Given the description of an element on the screen output the (x, y) to click on. 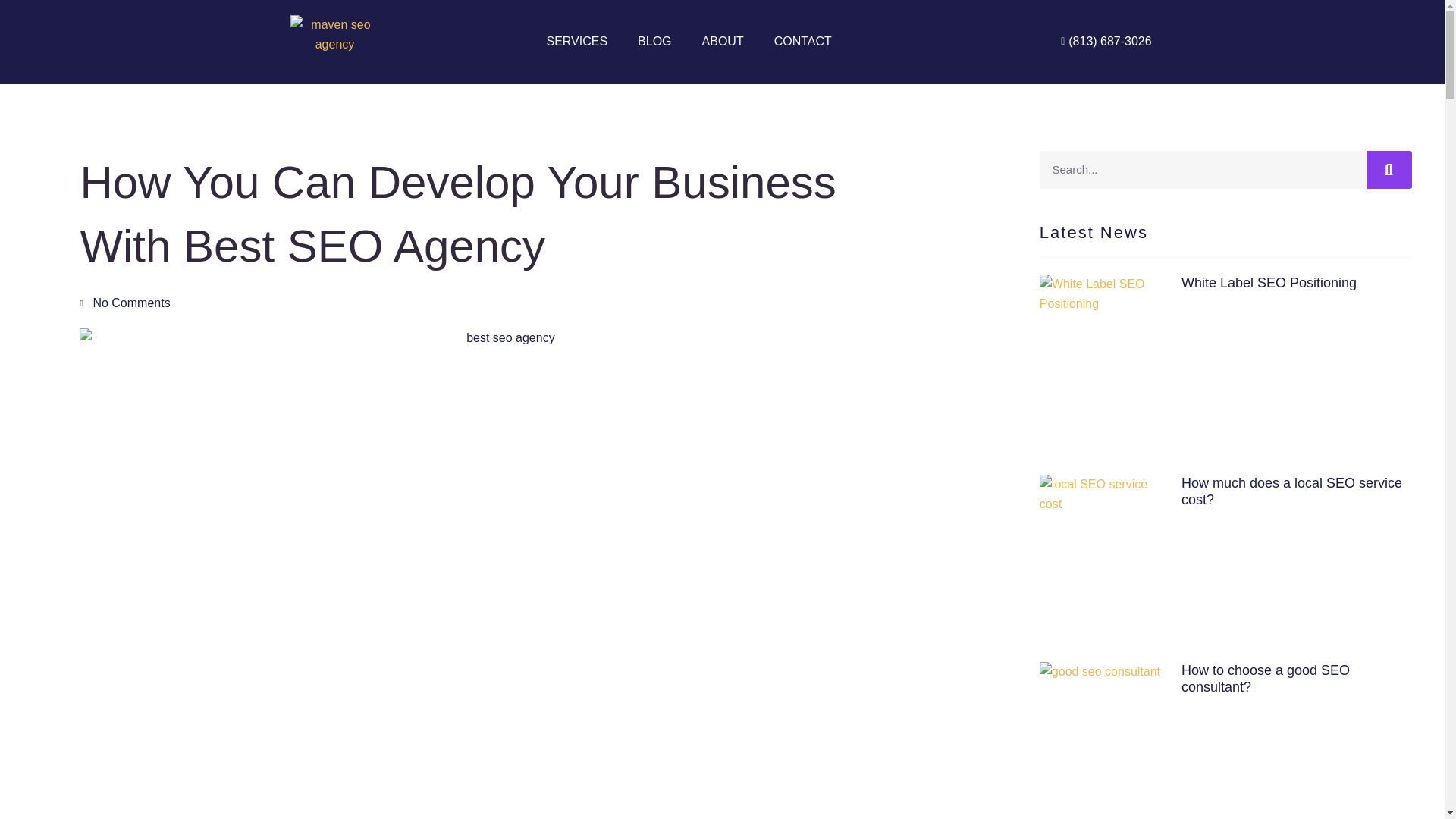
How to choose a good SEO consultant? (1264, 678)
ABOUT (722, 41)
Search (1203, 169)
How much does a local SEO service cost? (1291, 491)
SERVICES (577, 41)
No Comments (125, 302)
CONTACT (802, 41)
Search (1389, 169)
White Label SEO Positioning (1268, 282)
BLOG (654, 41)
SEARCH (1389, 169)
